Given the description of an element on the screen output the (x, y) to click on. 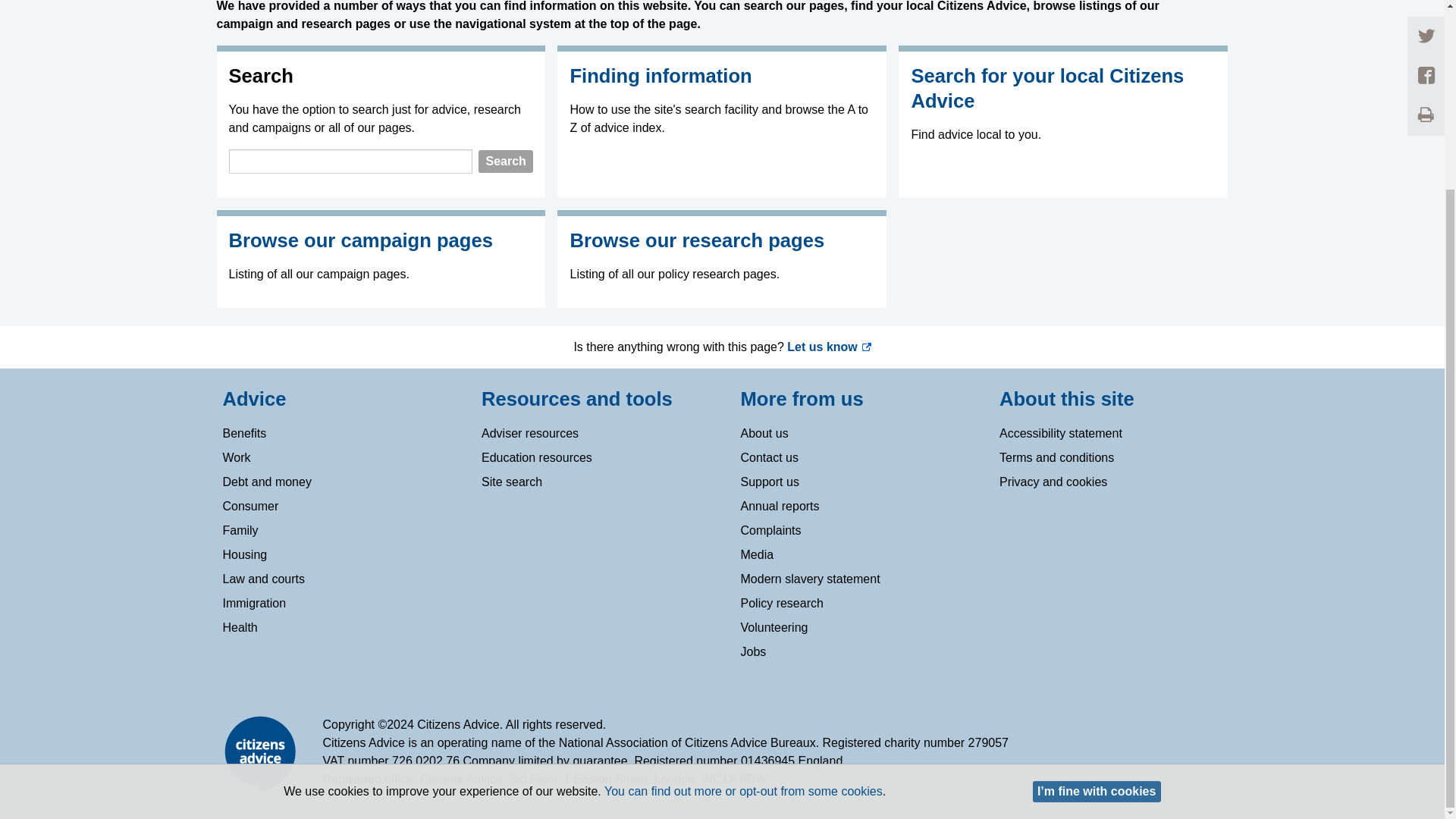
You can find out more or opt-out from some cookies (743, 554)
